Given the description of an element on the screen output the (x, y) to click on. 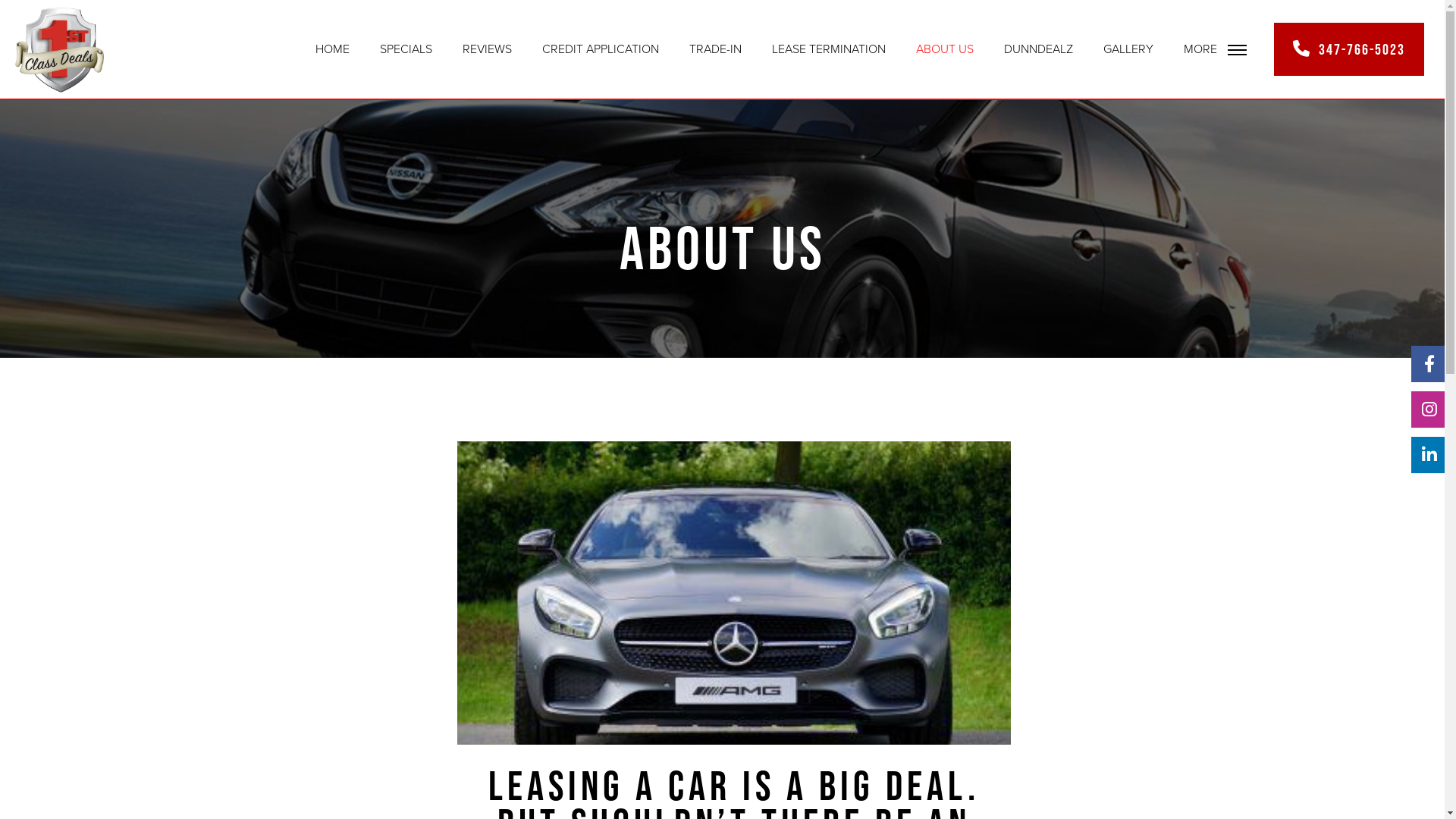
347-766-5023 Element type: text (1349, 48)
Facebook Element type: hover (1425, 363)
ABOUT US Element type: text (944, 48)
Instagram Element type: hover (1429, 409)
MORE Element type: text (1214, 49)
HOME Element type: text (332, 48)
REVIEWS Element type: text (487, 48)
DUNNDEALZ Element type: text (1038, 48)
SPECIALS Element type: text (405, 48)
GALLERY Element type: text (1128, 48)
LinkedIn Element type: hover (1425, 454)
Instagram Element type: hover (1425, 409)
LEASE TERMINATION Element type: text (828, 48)
Facebook Element type: hover (1429, 363)
CREDIT APPLICATION Element type: text (600, 48)
Linked In Element type: hover (1429, 454)
TRADE-IN Element type: text (715, 48)
